Given the description of an element on the screen output the (x, y) to click on. 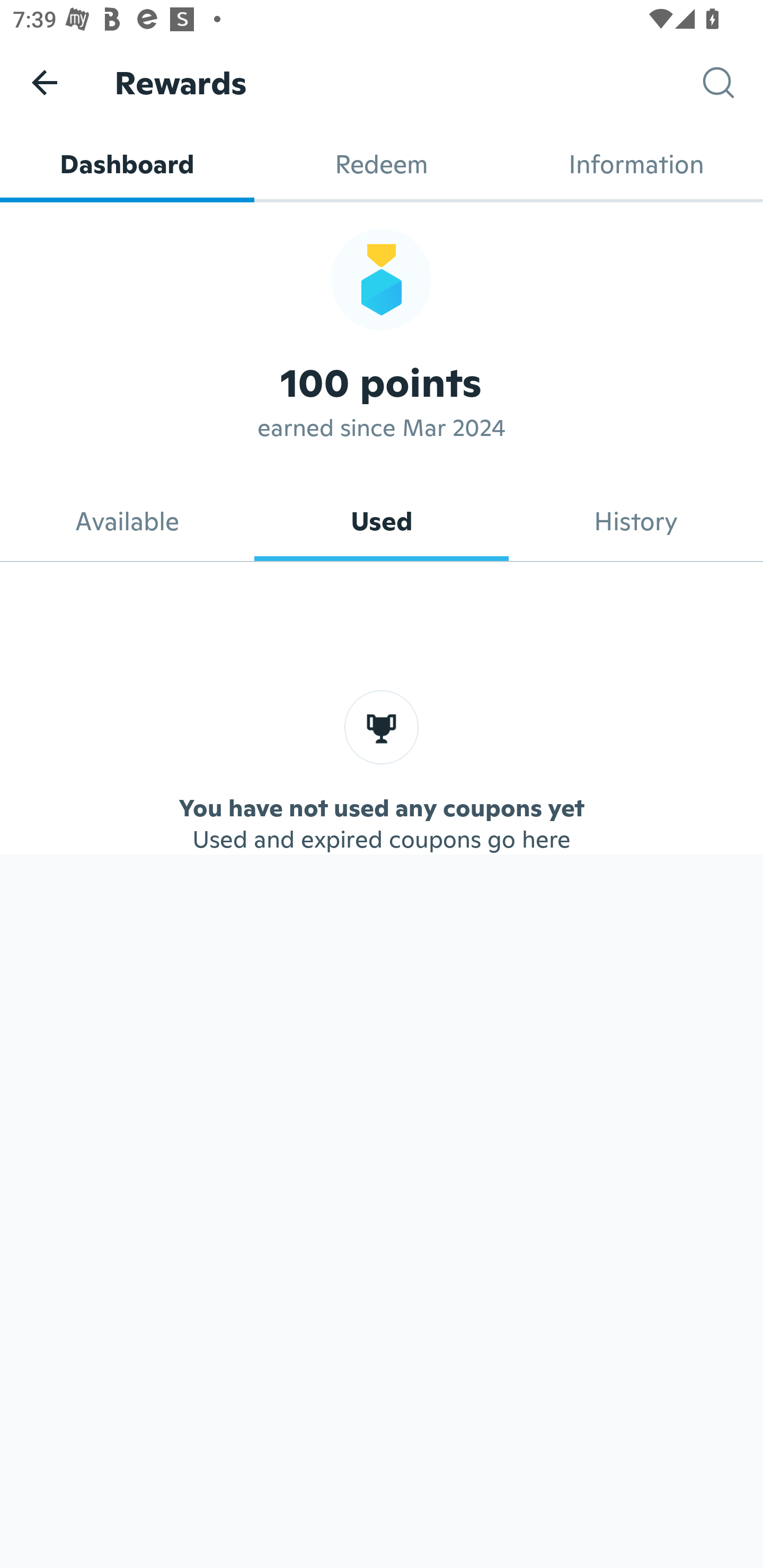
Navigate up (44, 82)
Search (732, 82)
Dashboard (127, 164)
Redeem (381, 164)
Information (635, 164)
Available (127, 520)
Used (381, 520)
History (635, 520)
